Given the description of an element on the screen output the (x, y) to click on. 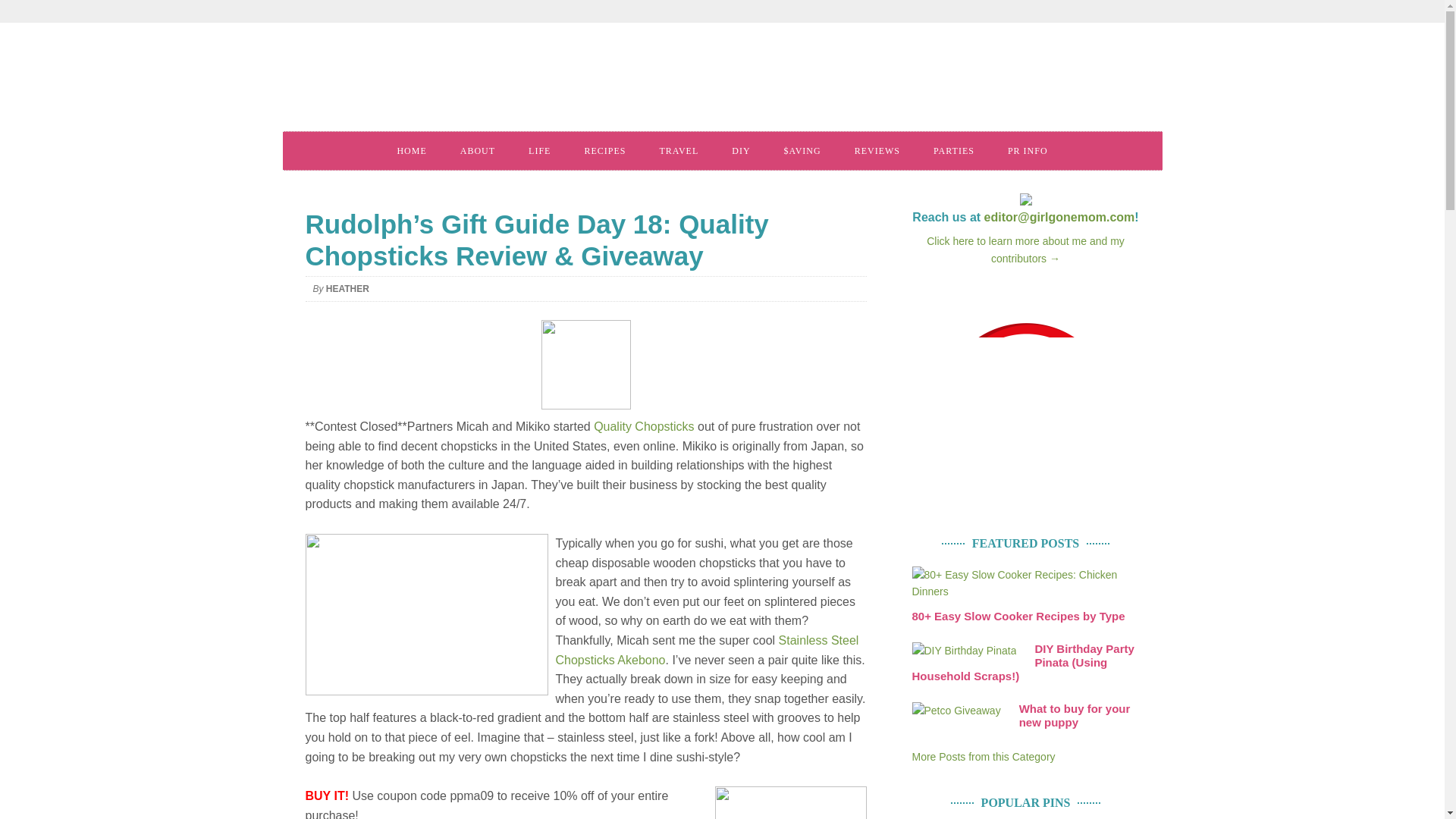
Girl Gone Mom (509, 82)
ABOUT (478, 150)
HOME (411, 150)
DIY (740, 150)
In Season (982, 756)
RECIPES (604, 150)
TRAVEL (678, 150)
LIFE (539, 150)
